Given the description of an element on the screen output the (x, y) to click on. 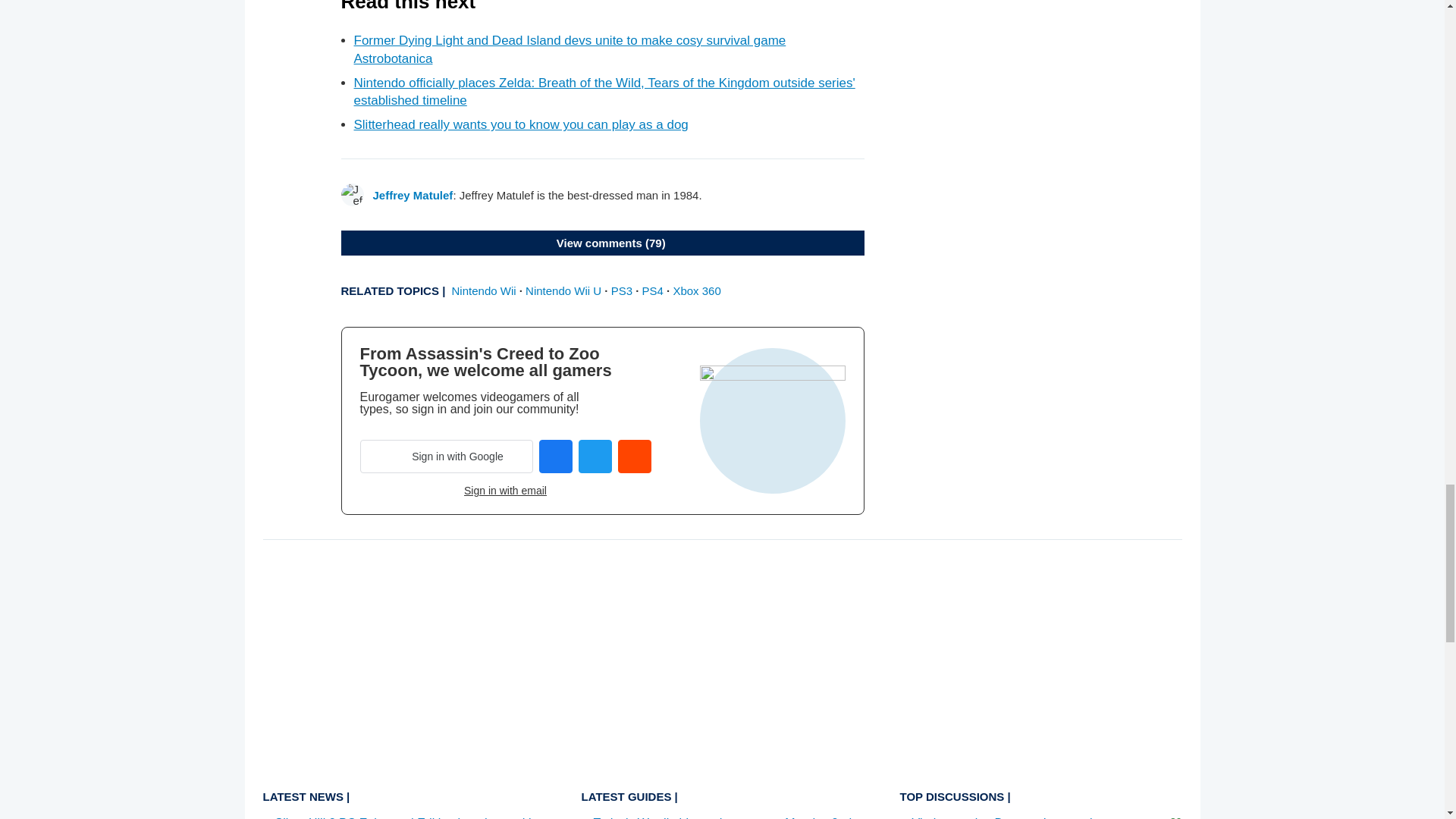
Sign in with Google (445, 456)
Slitterhead really wants you to know you can play as a dog (520, 124)
Jeffrey Matulef (412, 195)
